Given the description of an element on the screen output the (x, y) to click on. 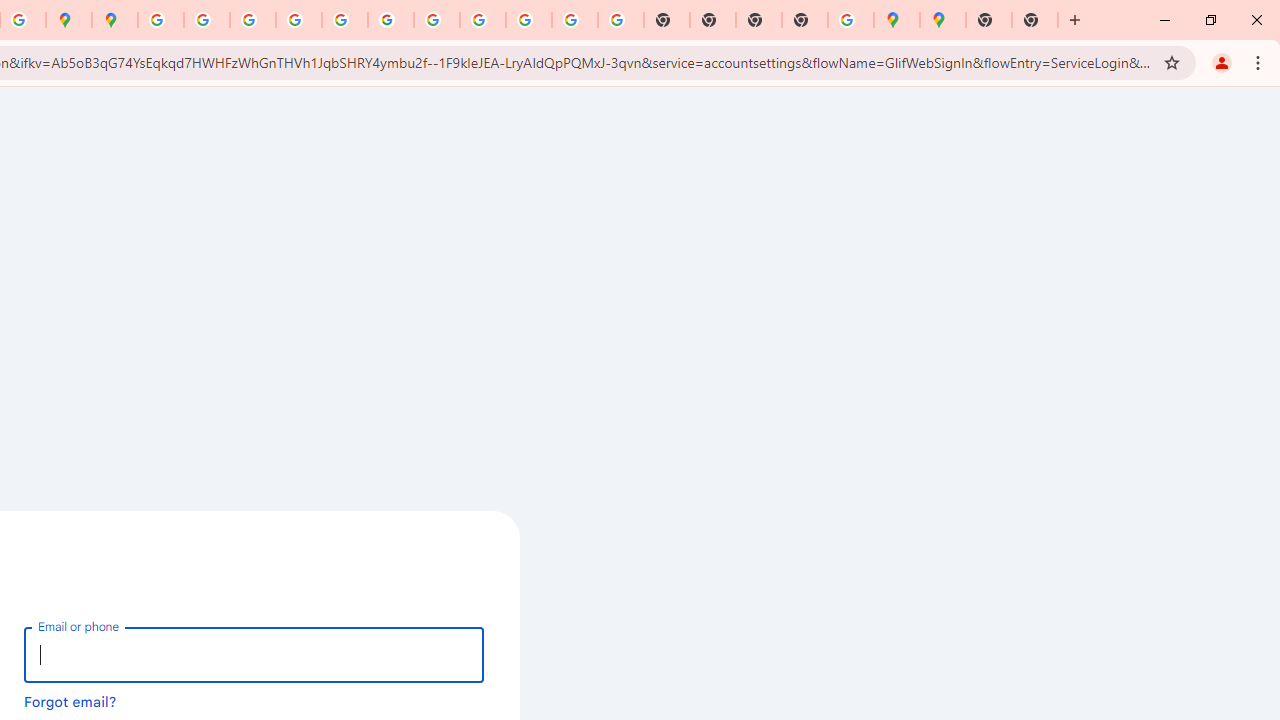
Google Maps (943, 20)
Forgot email? (70, 701)
Privacy Help Center - Policies Help (253, 20)
Email or phone (253, 654)
Privacy Help Center - Policies Help (299, 20)
New Tab (989, 20)
